Given the description of an element on the screen output the (x, y) to click on. 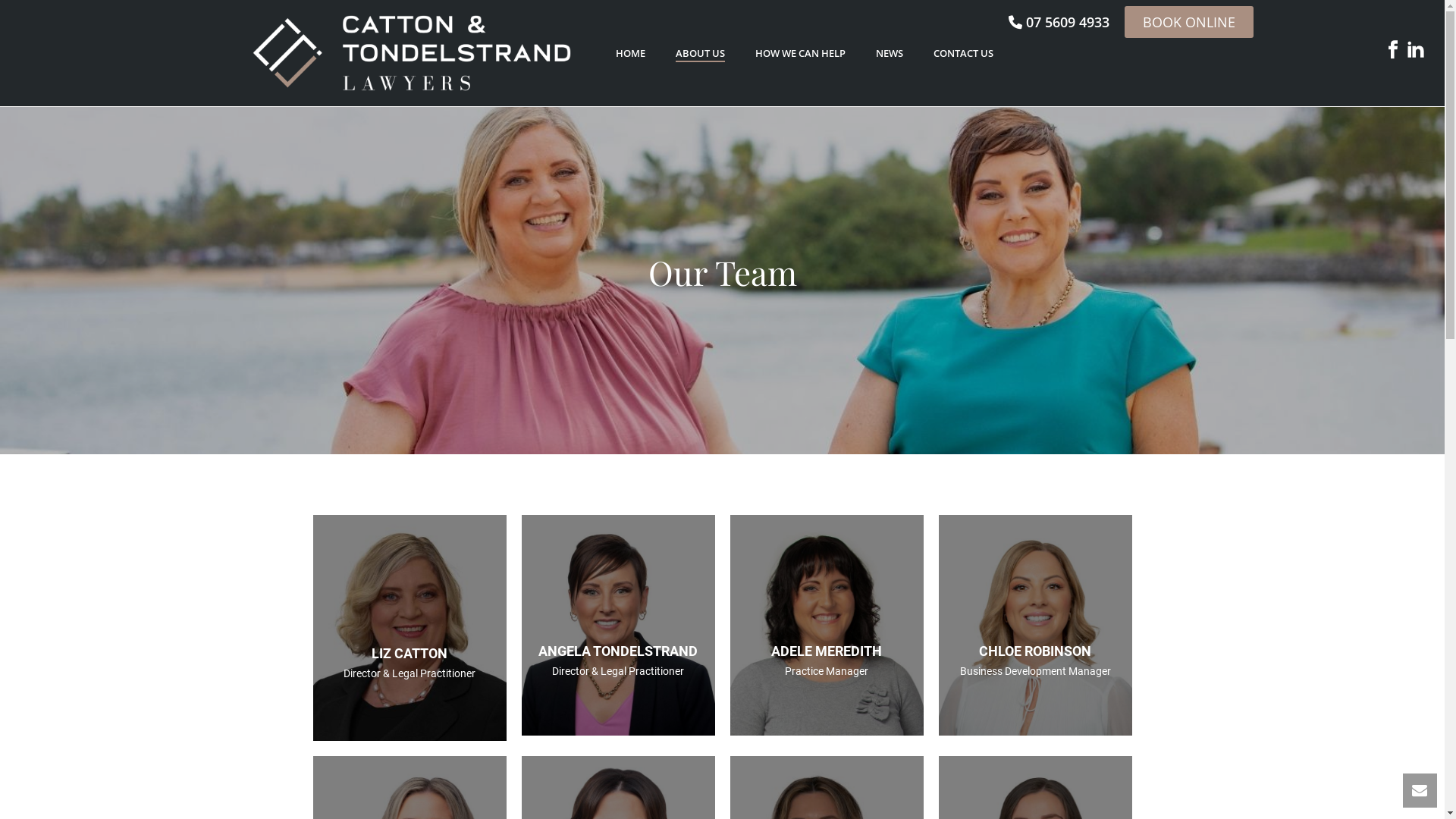
ANGELA TONDELSTRAND Element type: text (617, 650)
facebook Element type: hover (1392, 51)
CHLOE ROBINSON Element type: text (1035, 650)
07 5609 4933 Element type: text (1058, 21)
LIZ CATTON Element type: text (409, 653)
HOME Element type: text (630, 53)
CONTACT US Element type: text (962, 53)
NEWS Element type: text (888, 53)
HOW WE CAN HELP Element type: text (800, 53)
Family Law Specialists Element type: hover (410, 53)
ADELE MEREDITH Element type: text (826, 650)
ABOUT US Element type: text (699, 53)
linkedin Element type: hover (1415, 51)
BOOK ONLINE Element type: text (1187, 21)
